Given the description of an element on the screen output the (x, y) to click on. 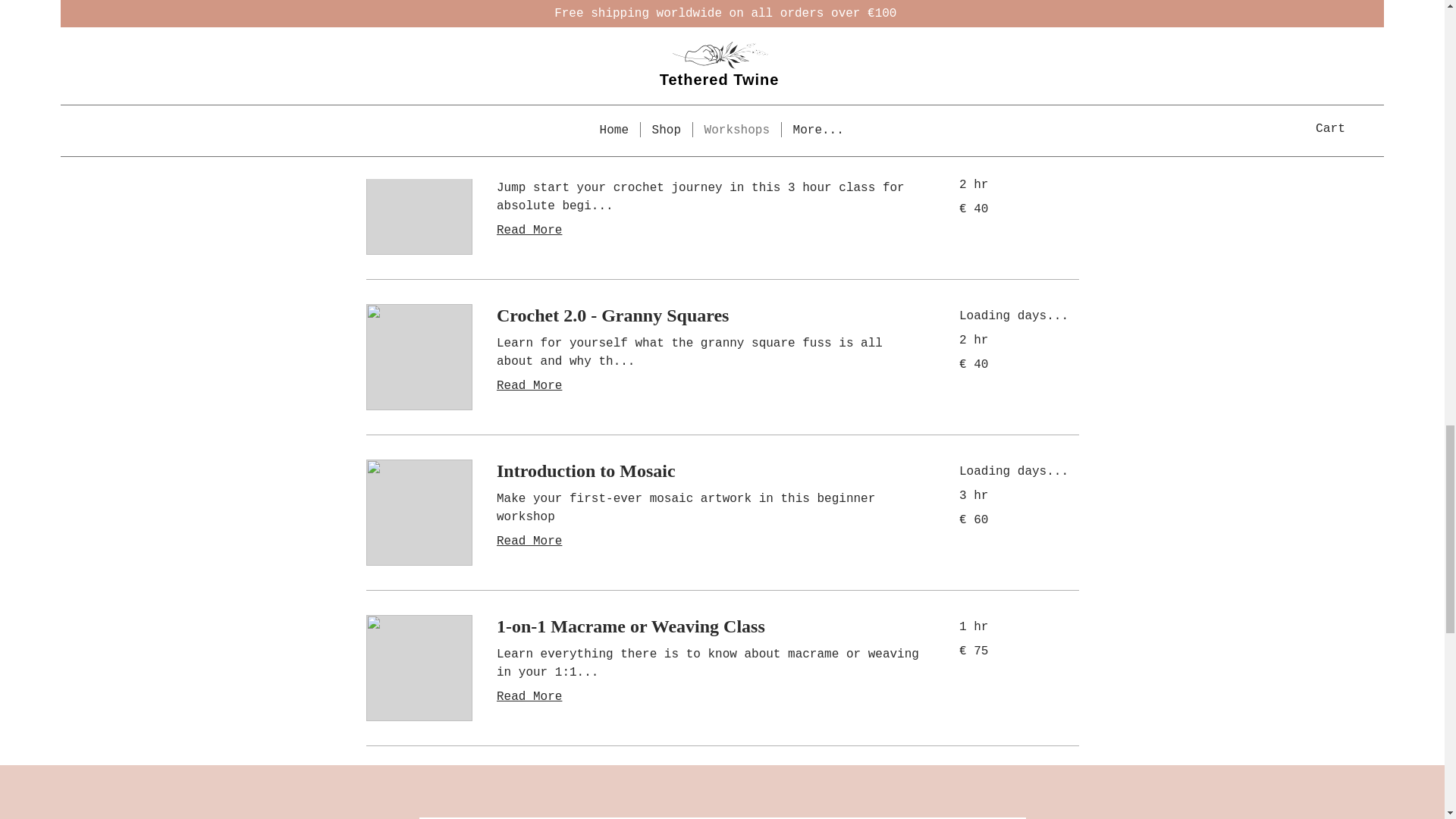
1-on-1 Macrame or Weaving Class (708, 627)
Introduction to Mosaic (708, 471)
Introduction to Circular Weaving (708, 8)
Read More (708, 230)
Crochet 1.0 - Absolute Beginners (708, 160)
Crochet 2.0 - Granny Squares (708, 315)
Read More (708, 56)
Read More (708, 696)
Read More (708, 541)
Read More (708, 385)
